Given the description of an element on the screen output the (x, y) to click on. 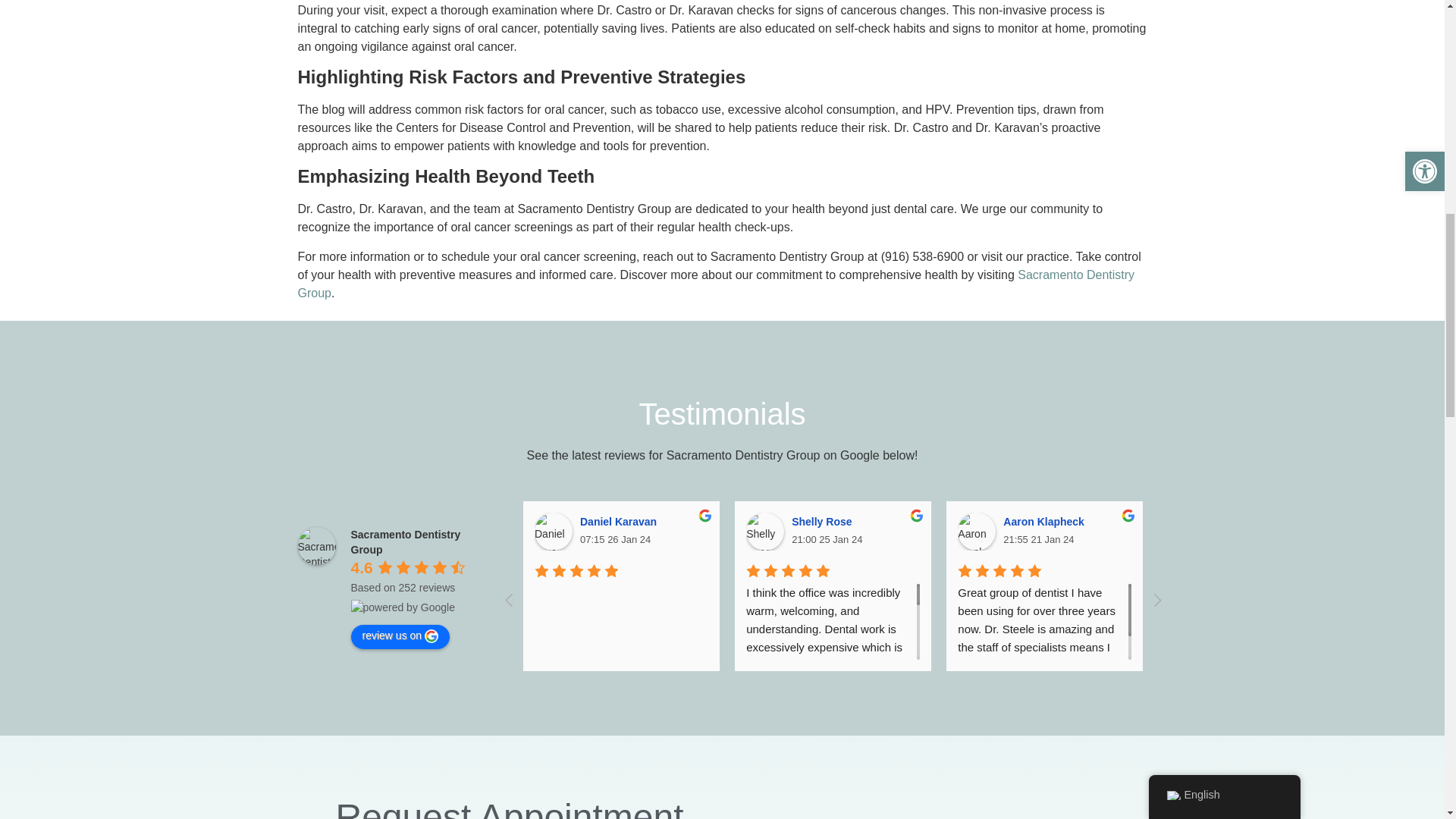
powered by Google (402, 607)
Aaron Klapheck (976, 531)
Jeff Engle (1400, 531)
Daniel Karavan (553, 531)
Stanton Miller (1188, 531)
Shelly Rose (764, 531)
Sacramento Dentistry Group (315, 546)
